Given the description of an element on the screen output the (x, y) to click on. 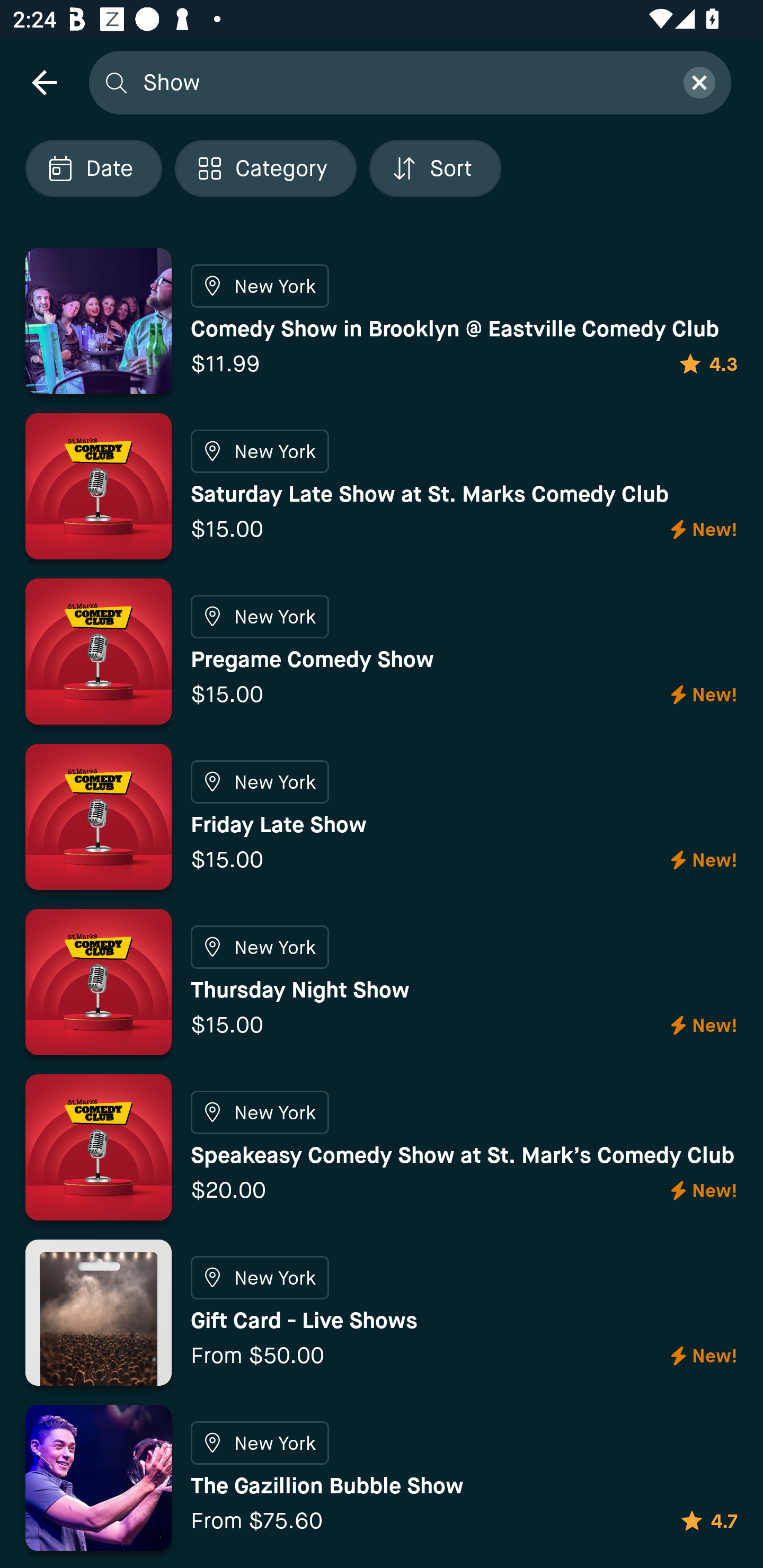
navigation icon (44, 81)
Show (402, 81)
Localized description Date (93, 168)
Localized description Category (265, 168)
Localized description Sort (435, 168)
